Given the description of an element on the screen output the (x, y) to click on. 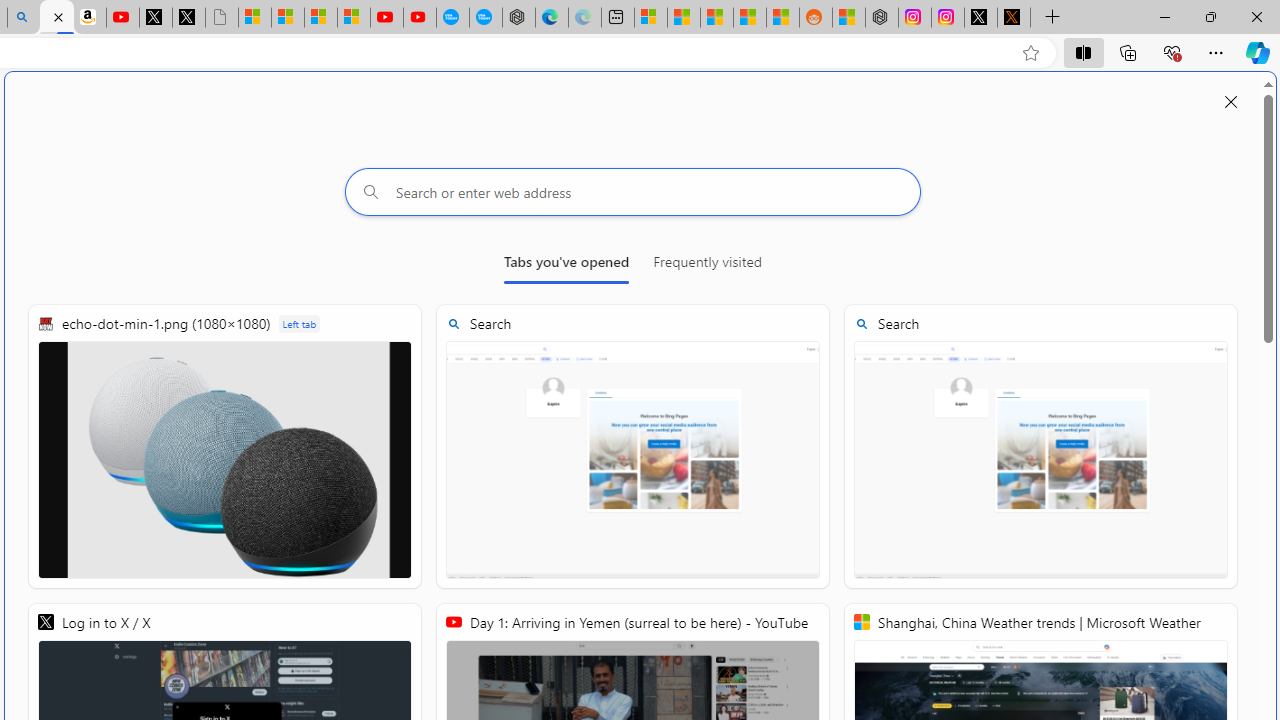
Close (1256, 16)
Microsoft account | Microsoft Account Privacy Settings (650, 17)
Nordace - Nordace has arrived Hong Kong (519, 17)
New Tab (1053, 17)
Minimize (1164, 16)
Shanghai, China weather forecast | Microsoft Weather (684, 17)
Browser essentials (1171, 52)
Nordace - Summer Adventures 2024 (882, 17)
Day 1: Arriving in Yemen (surreal to be here) - YouTube (123, 17)
Shanghai, China hourly forecast | Microsoft Weather (717, 17)
Close tab (57, 16)
Frequently visited (707, 265)
